Given the description of an element on the screen output the (x, y) to click on. 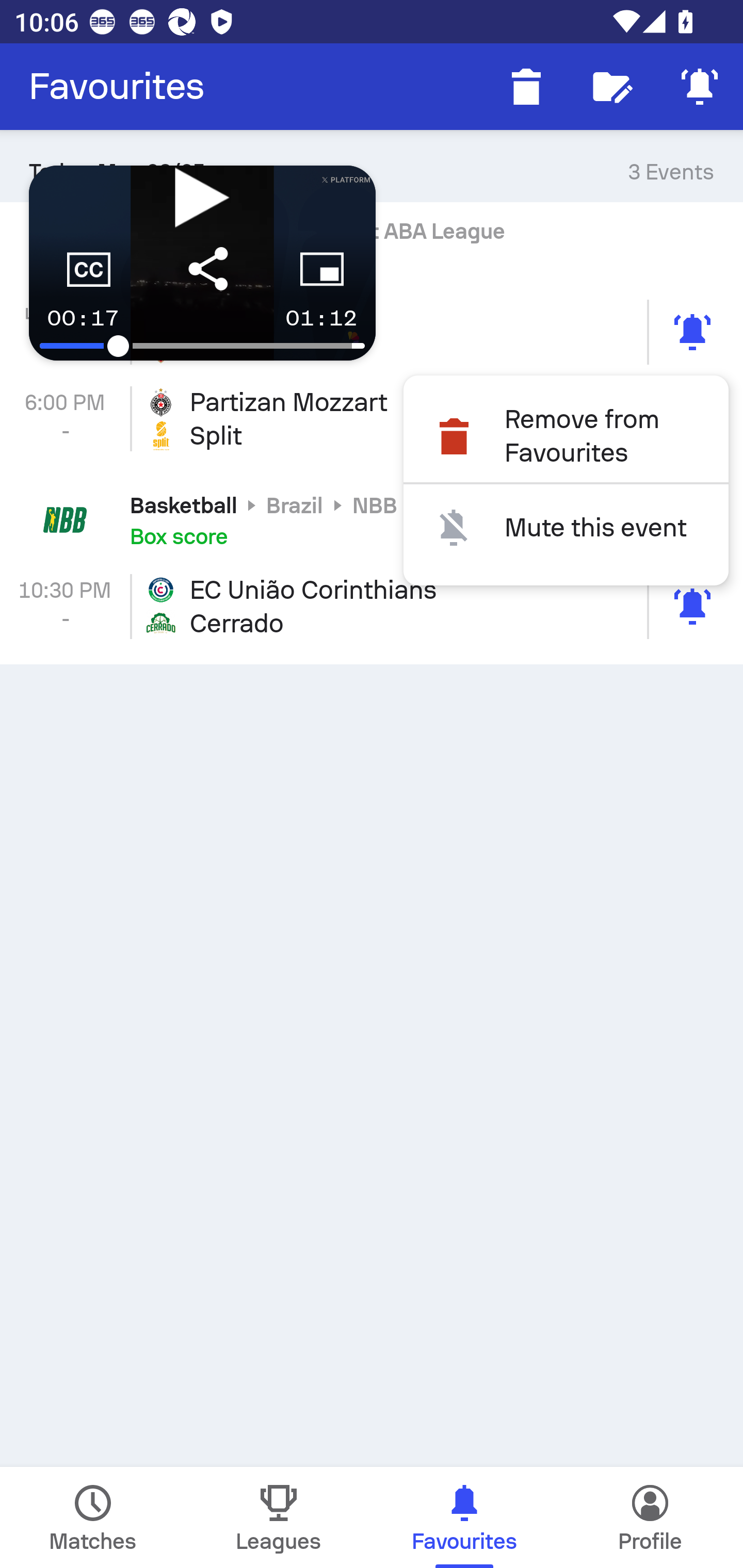
Remove from Favourites (565, 436)
Mute this event (565, 527)
